Given the description of an element on the screen output the (x, y) to click on. 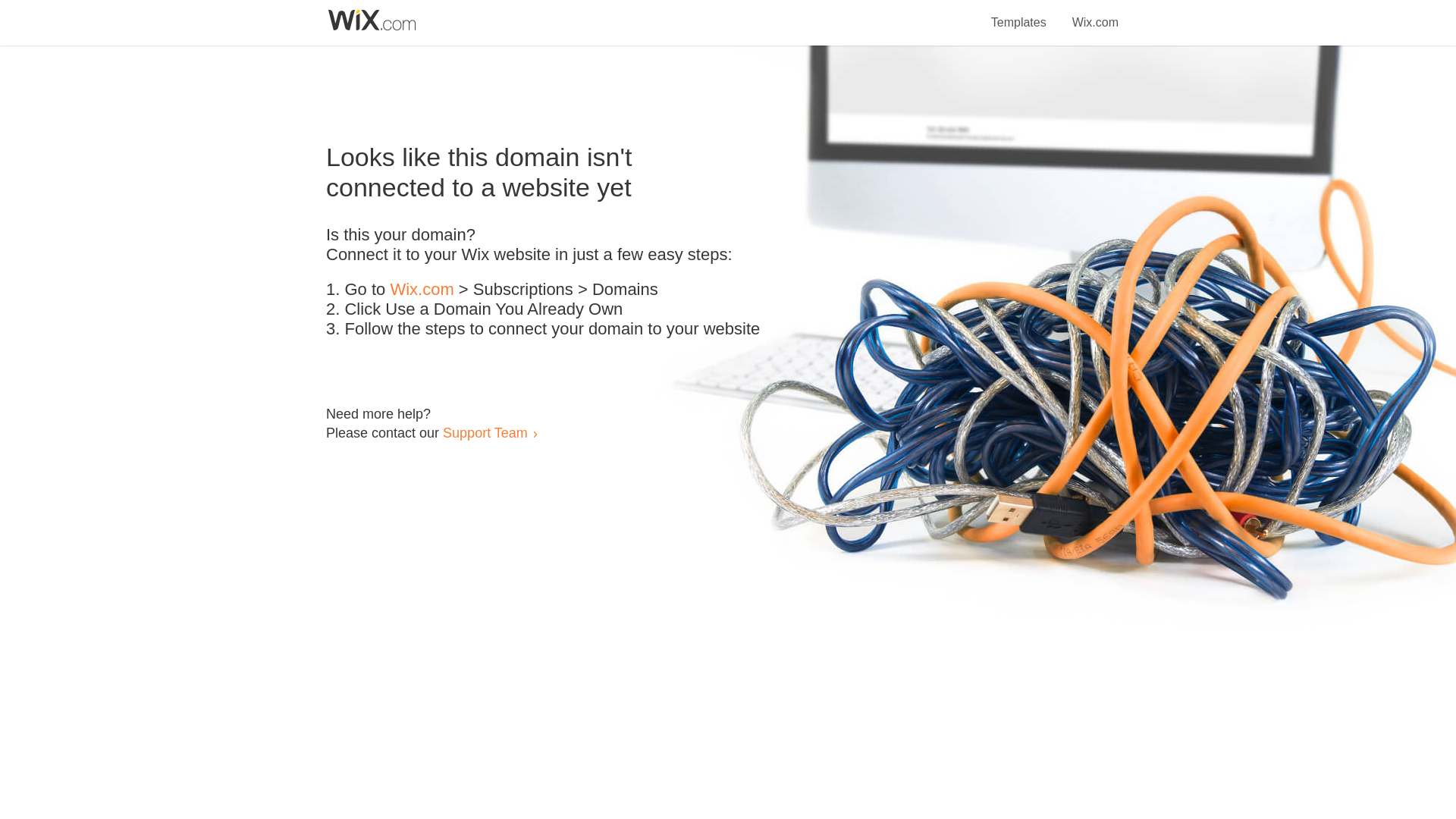
Templates (1018, 14)
Wix.com (1095, 14)
Wix.com (421, 289)
Support Team (484, 432)
